Given the description of an element on the screen output the (x, y) to click on. 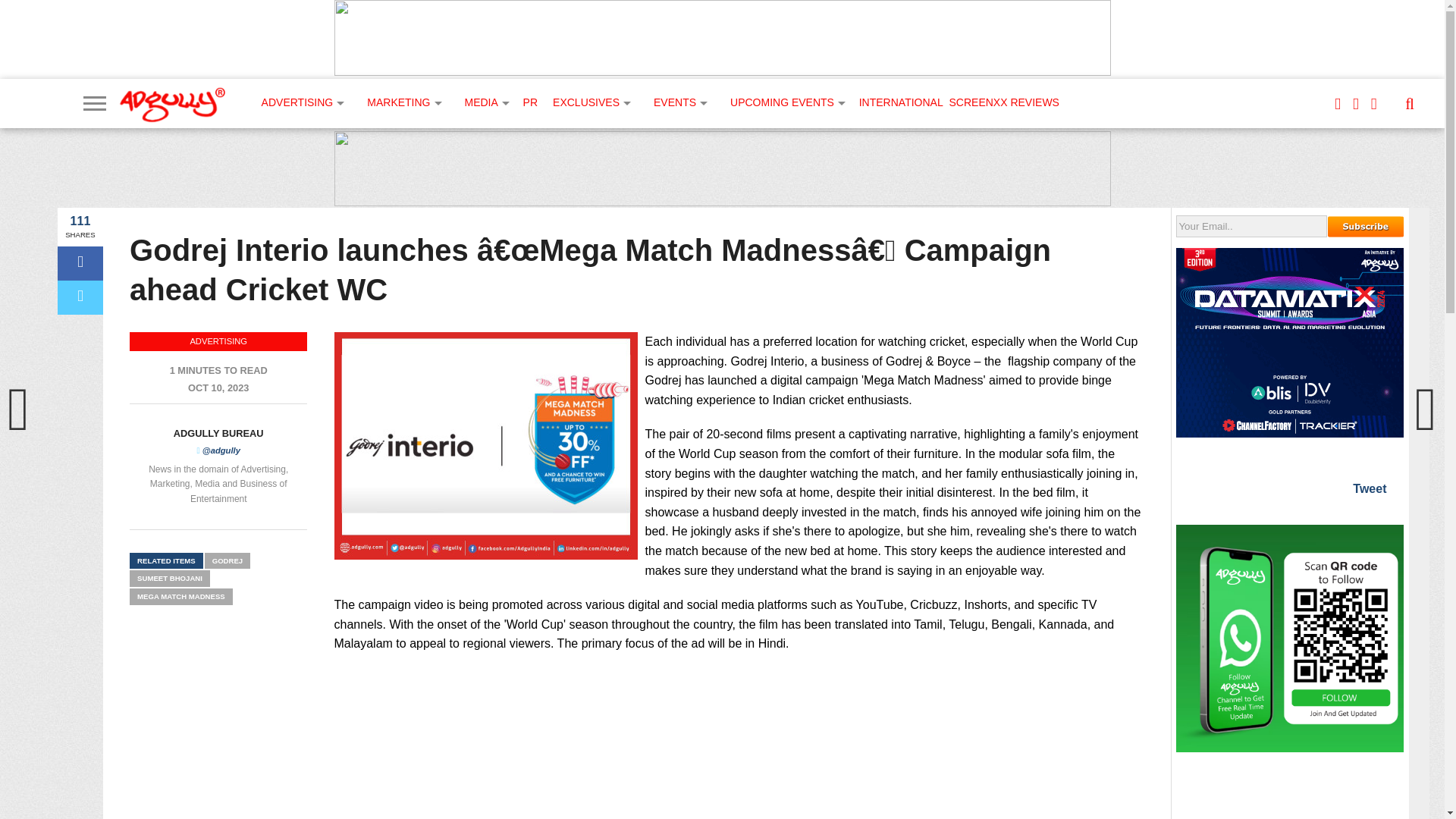
Your Email.. (1251, 226)
Share on Facebook (80, 263)
Tweet This Post (80, 297)
Posts by Adgully Bureau (218, 432)
